Given the description of an element on the screen output the (x, y) to click on. 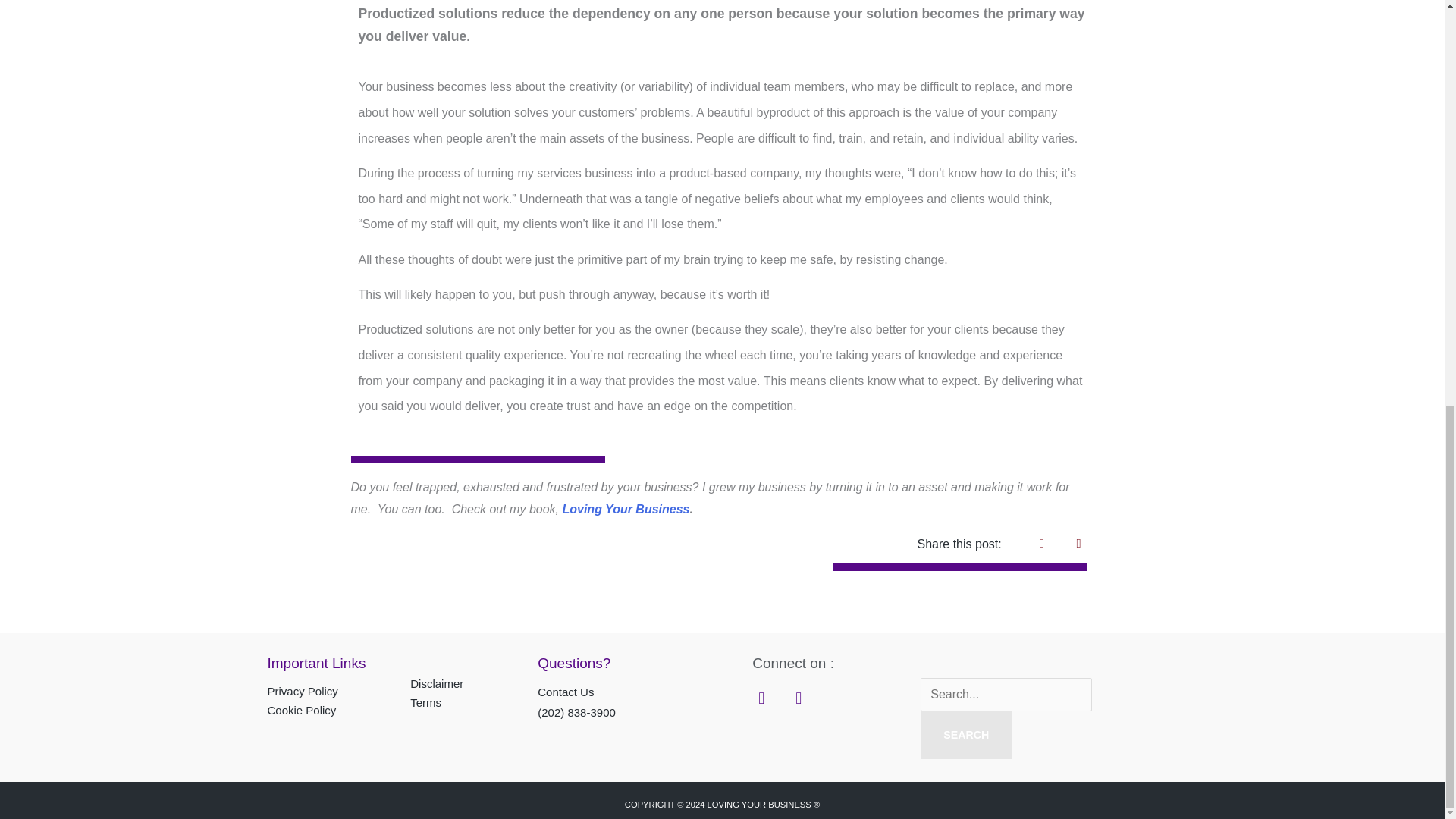
Contact Us (565, 691)
Privacy Policy  (301, 690)
Cookie Policy (301, 709)
Privacy Policy (301, 690)
Loving Your Business (625, 508)
Linkedin (760, 697)
Terms (425, 702)
Cookie Policy  (301, 709)
Connect on : (793, 662)
Search (965, 734)
